Given the description of an element on the screen output the (x, y) to click on. 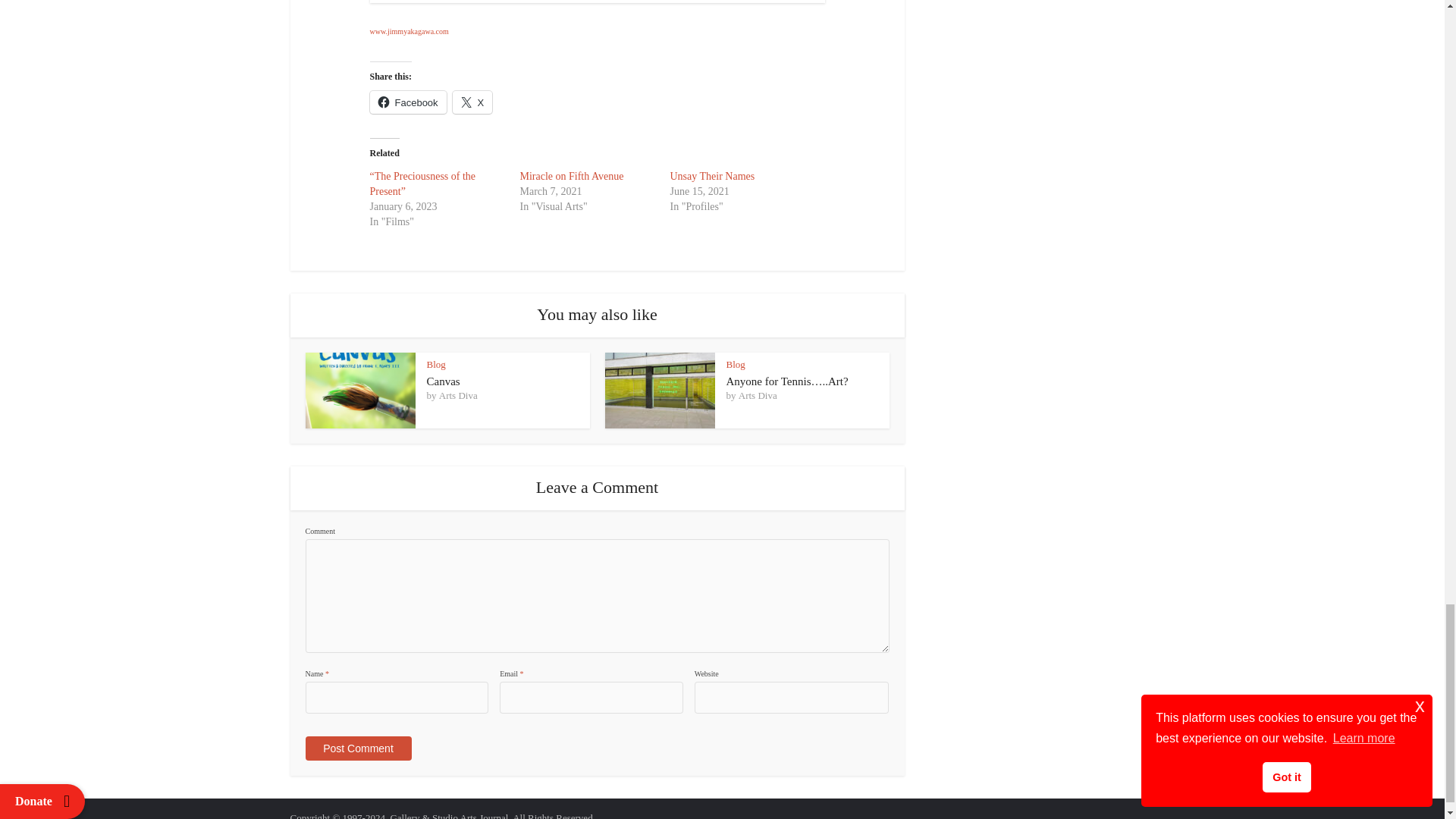
Post Comment (357, 748)
Click to share on X (472, 101)
Click to share on Facebook (407, 101)
Canvas (443, 381)
Miracle on Fifth Avenue (571, 175)
Unsay Their Names (712, 175)
